Given the description of an element on the screen output the (x, y) to click on. 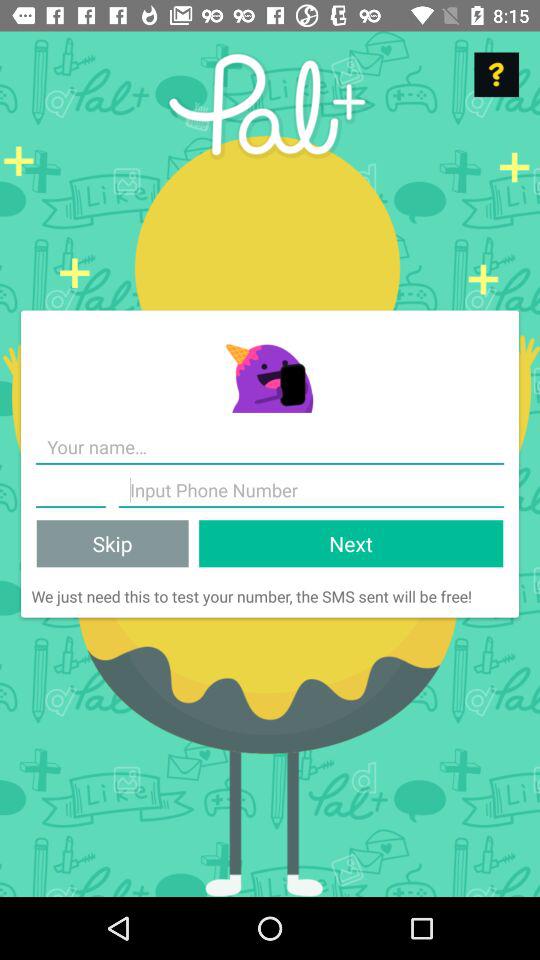
jump to the skip item (112, 543)
